Given the description of an element on the screen output the (x, y) to click on. 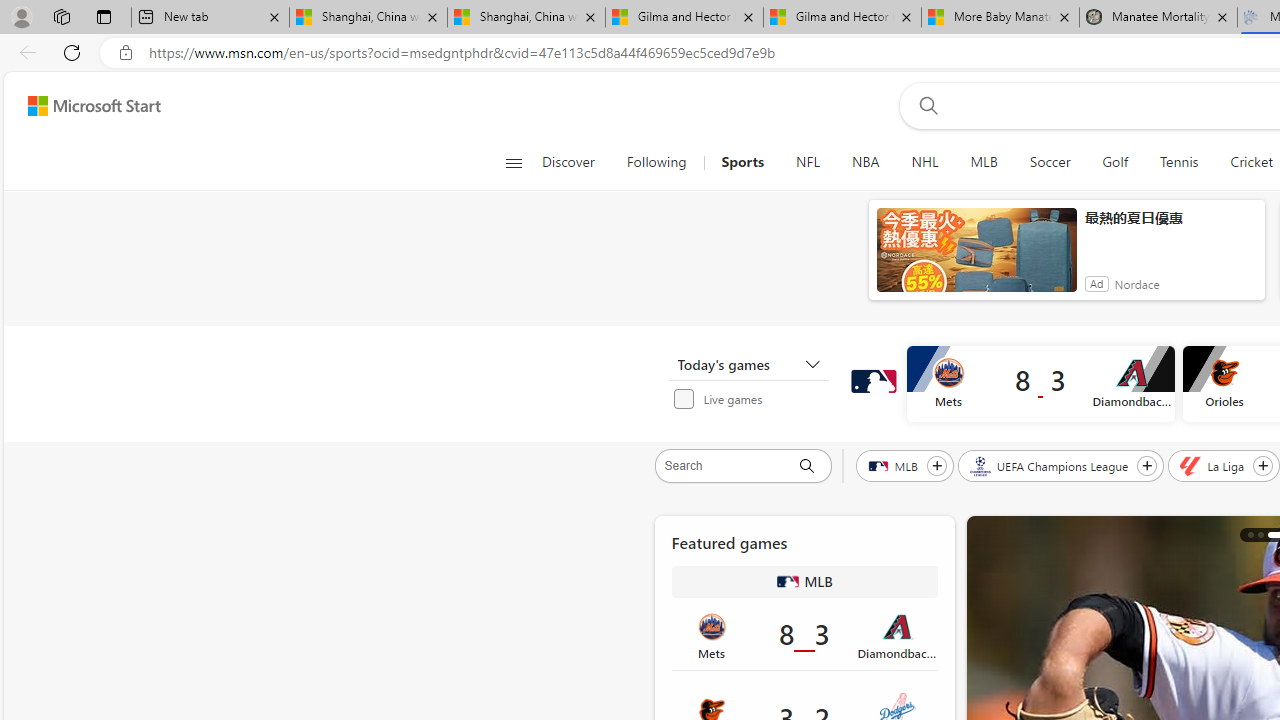
Today's games (748, 364)
Skip to footer (82, 105)
Web search (924, 105)
Tennis (1179, 162)
MLB (983, 162)
Live games Unchecked (753, 398)
Sports (742, 162)
Mets 8 vs Diamondbacks 3Time 9:40 AM  (804, 634)
Manatee Mortality Statistics | FWC (1158, 17)
Search (727, 466)
Discover (568, 162)
Gilma and Hector both pose tropical trouble for Hawaii (842, 17)
